Given the description of an element on the screen output the (x, y) to click on. 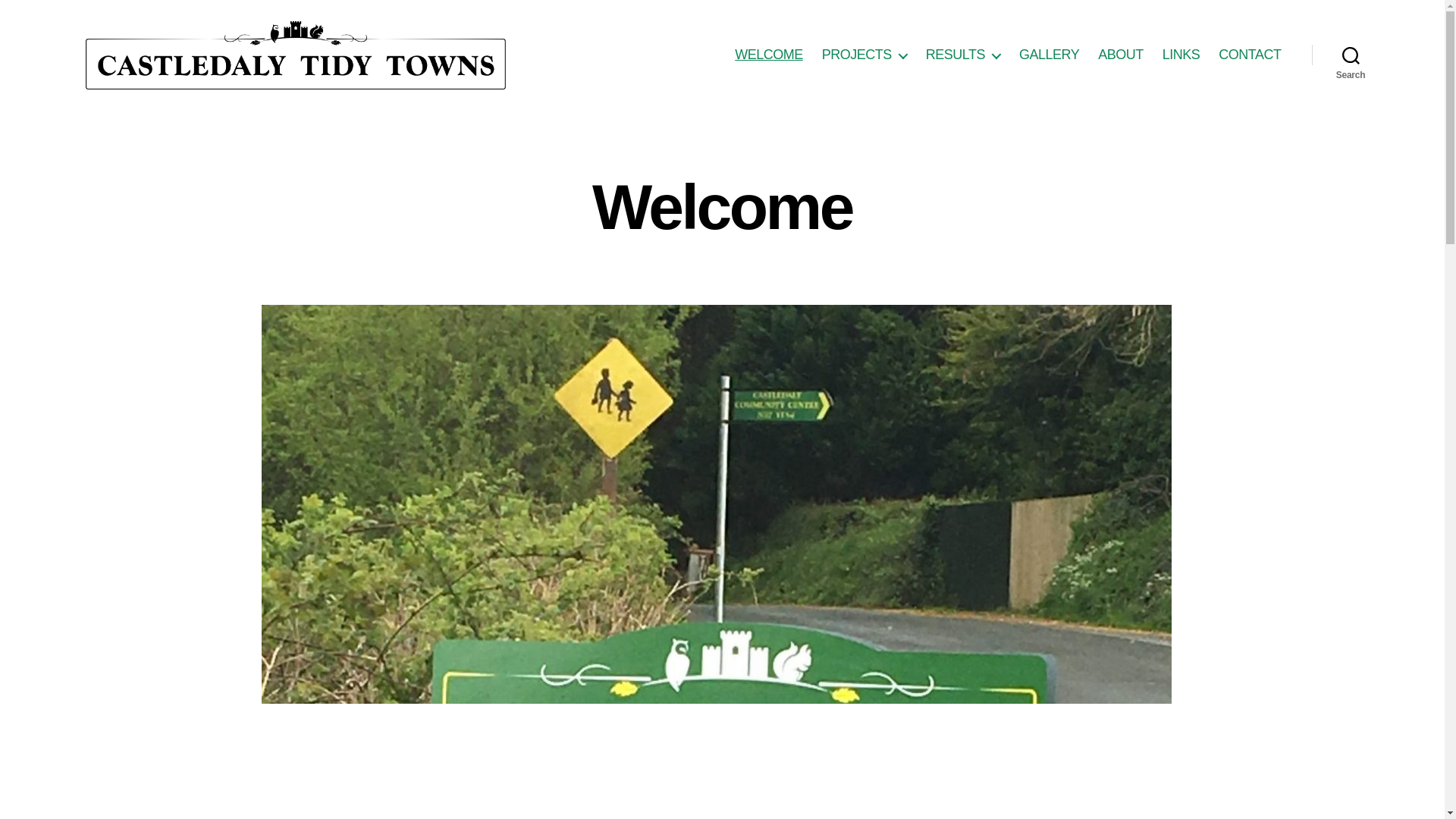
ABOUT (1119, 54)
LINKS (1180, 54)
WELCOME (769, 54)
GALLERY (1048, 54)
PROJECTS (864, 54)
CONTACT (1249, 54)
RESULTS (963, 54)
Search (1350, 55)
